Given the description of an element on the screen output the (x, y) to click on. 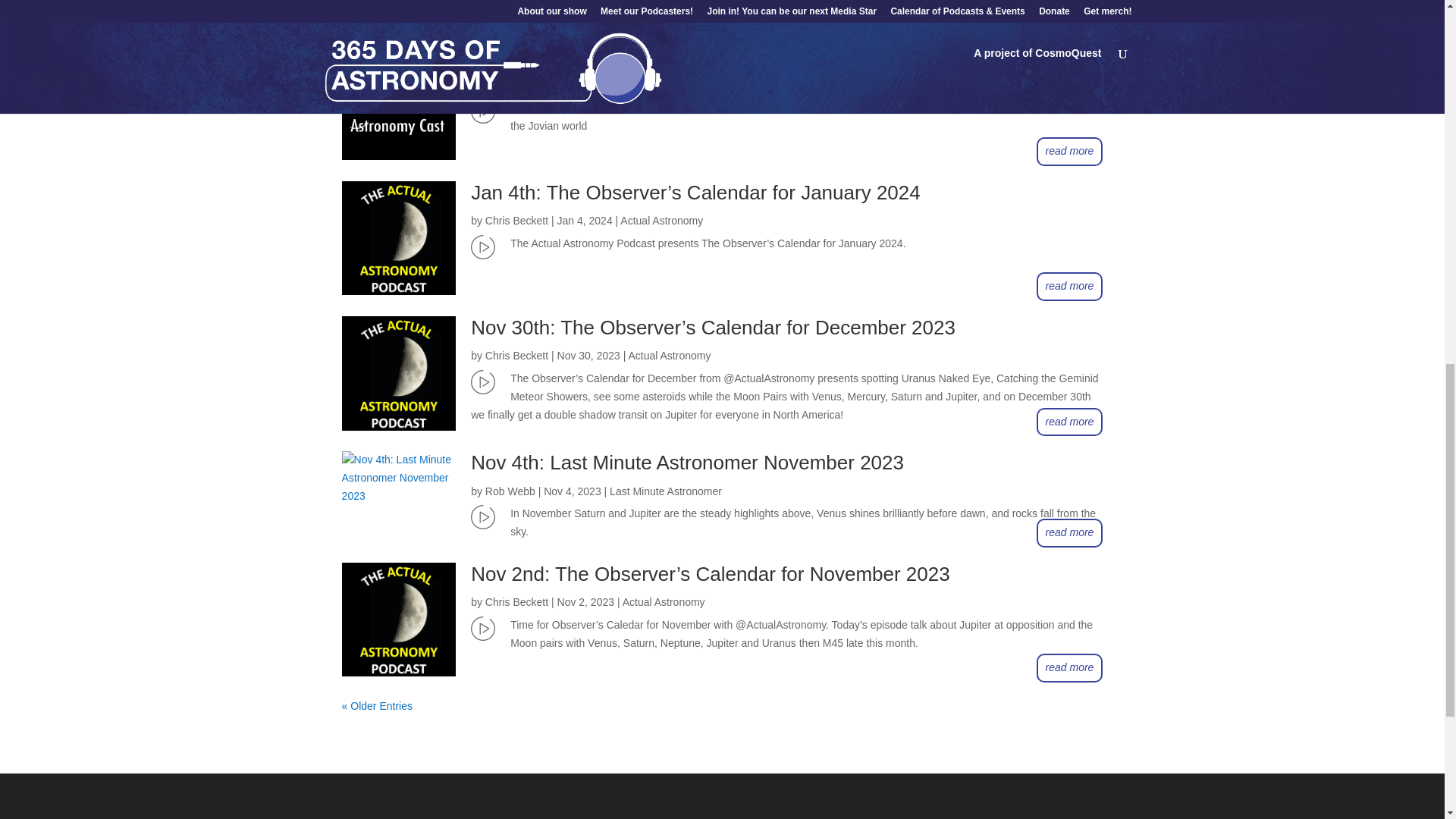
read more (1069, 16)
Play (482, 111)
Posts by Astronomy Cast (522, 85)
